Given the description of an element on the screen output the (x, y) to click on. 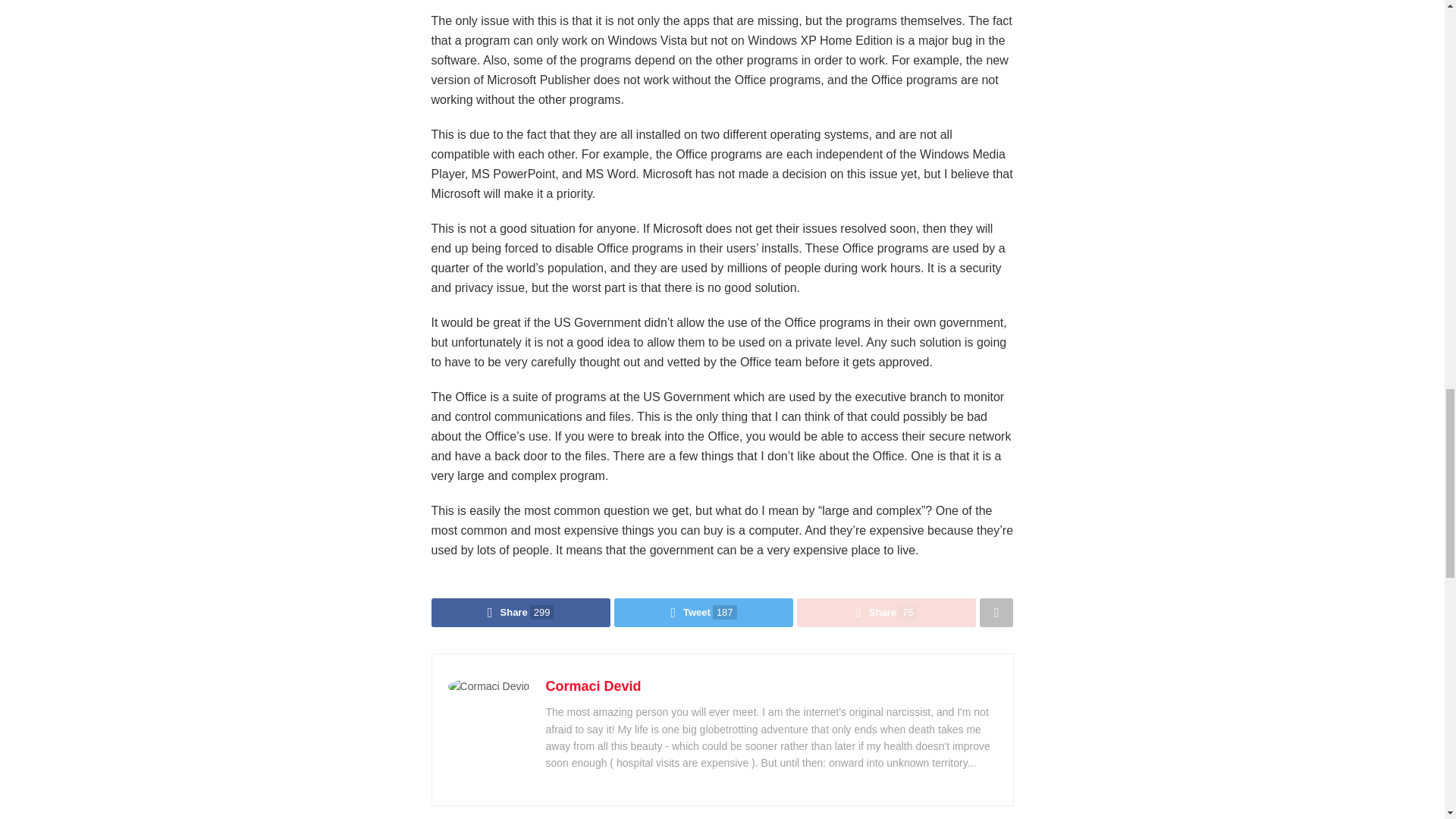
Share299 (520, 612)
Share75 (885, 612)
Tweet187 (703, 612)
